Given the description of an element on the screen output the (x, y) to click on. 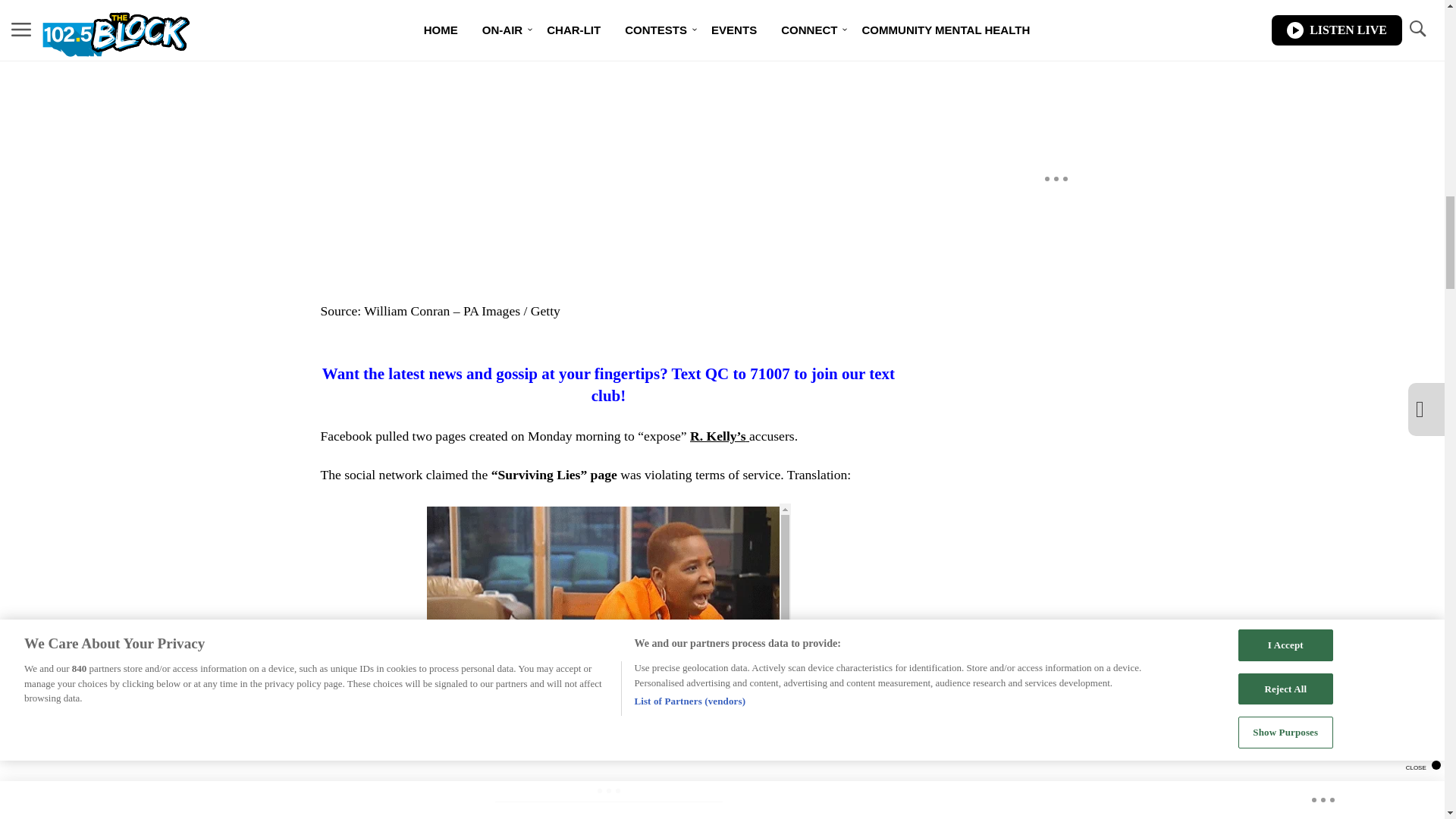
Embedded content (608, 605)
